Given the description of an element on the screen output the (x, y) to click on. 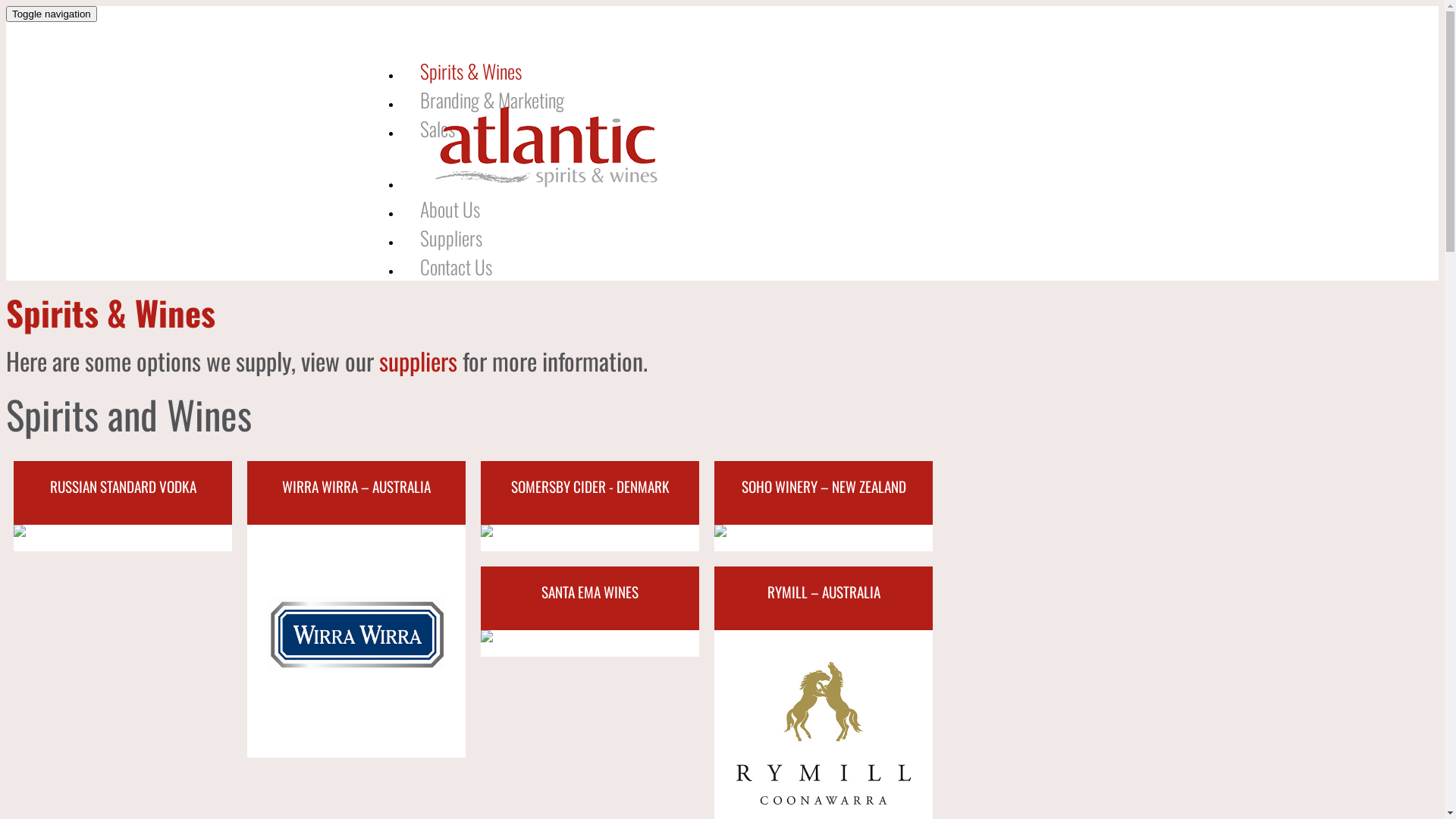
Spirits & Wines Element type: text (469, 70)
Toggle navigation Element type: text (51, 13)
suppliers Element type: text (418, 360)
Contact Us Element type: text (455, 266)
About Us Element type: text (449, 208)
Suppliers Element type: text (450, 237)
Sales Element type: text (436, 128)
Branding & Marketing Element type: text (491, 99)
